Given the description of an element on the screen output the (x, y) to click on. 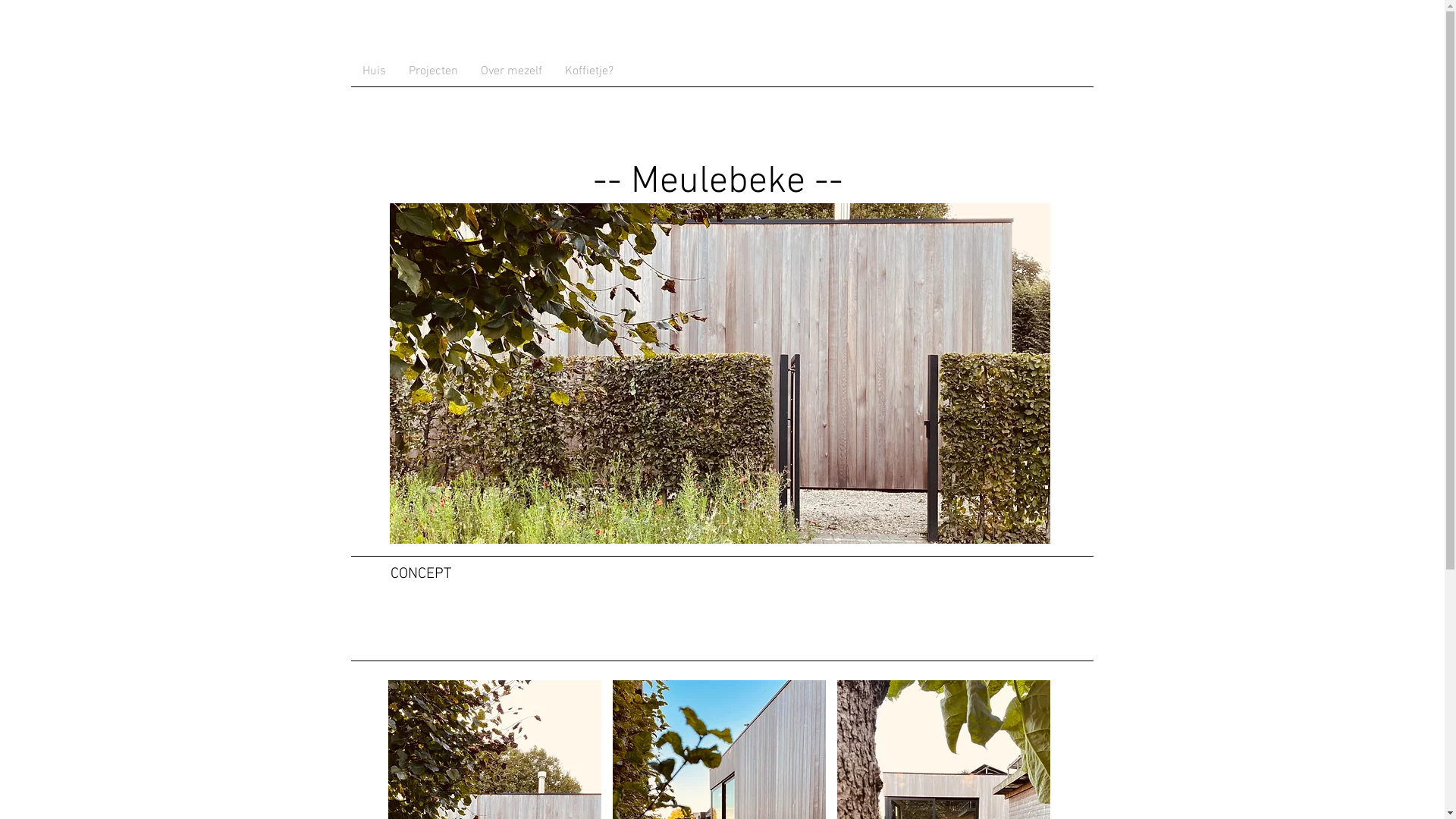
Over mezelf Element type: text (510, 70)
Huis Element type: text (373, 70)
Koffietje? Element type: text (588, 70)
Projecten Element type: text (433, 70)
